Given the description of an element on the screen output the (x, y) to click on. 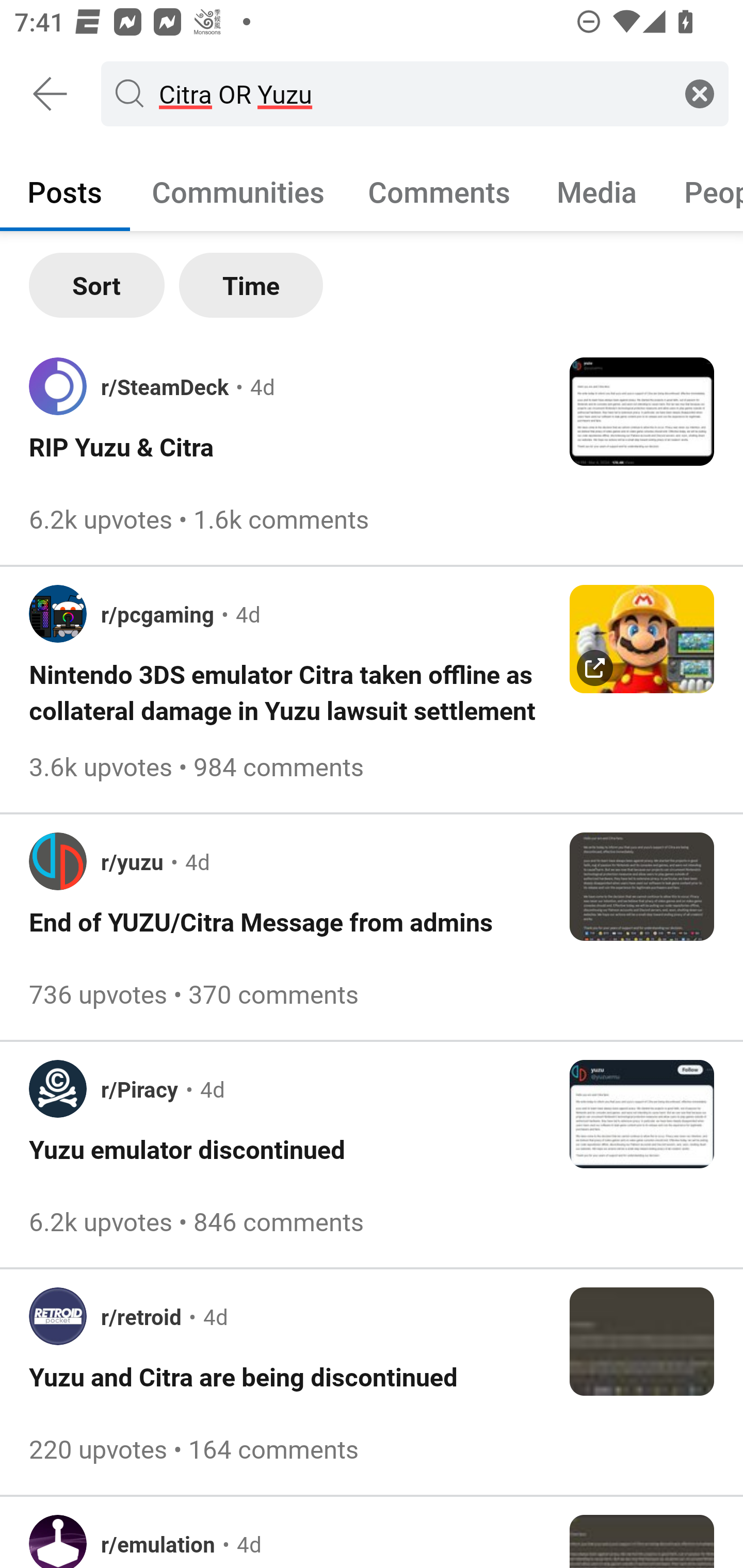
Back (50, 93)
Citra OR Yuzu (410, 93)
Clear search (699, 93)
Communities (238, 191)
Comments (438, 191)
Media (596, 191)
Sort Sort by Most relevant (96, 285)
Time Filter Time by All time (251, 285)
